Given the description of an element on the screen output the (x, y) to click on. 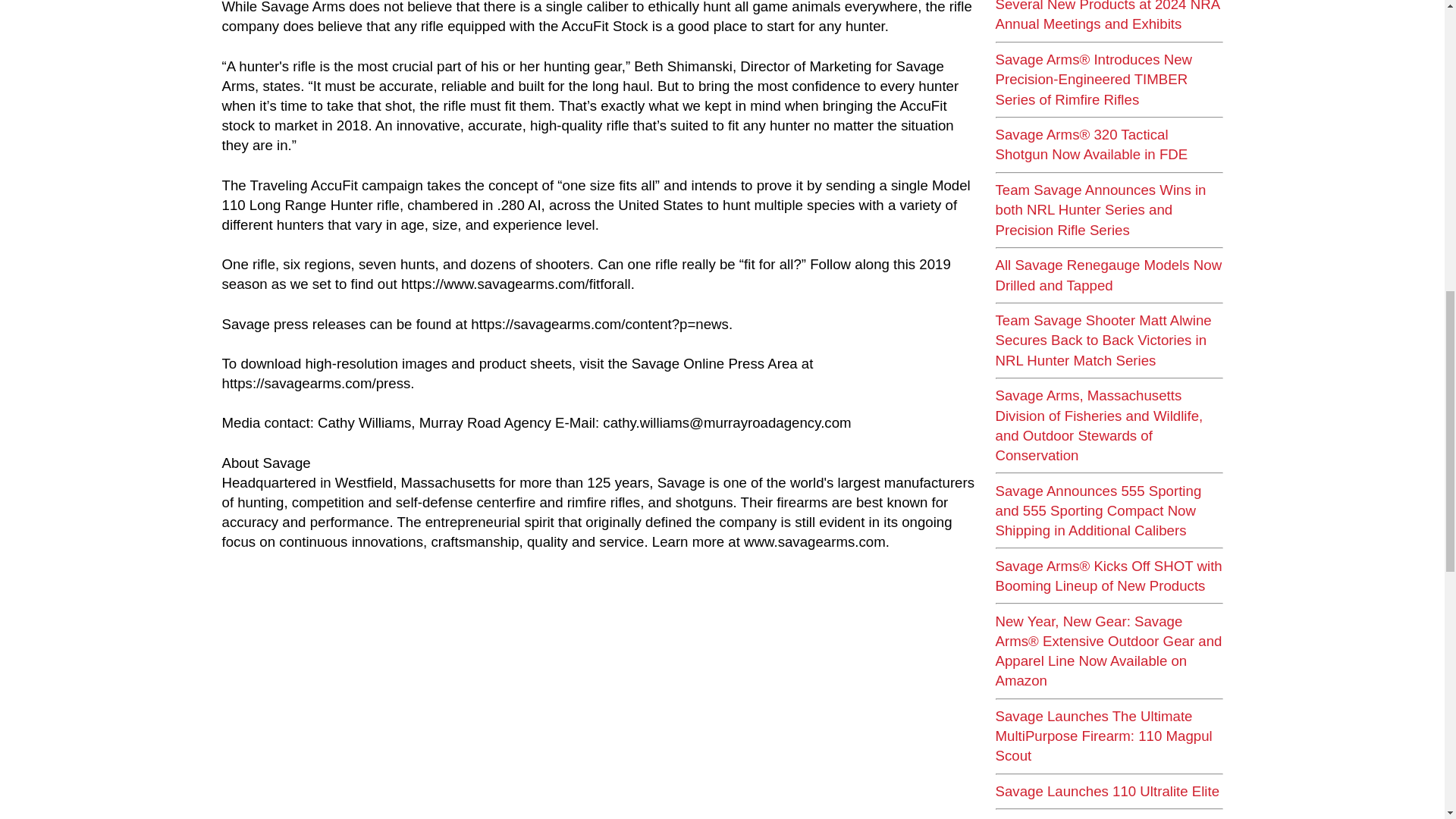
All Savage Renegauge Models Now Drilled and Tapped (1107, 274)
All Savage Renegauge Models Now Drilled and Tapped (1107, 274)
Savage Launches 110 Ultralite Elite (1107, 790)
